Given the description of an element on the screen output the (x, y) to click on. 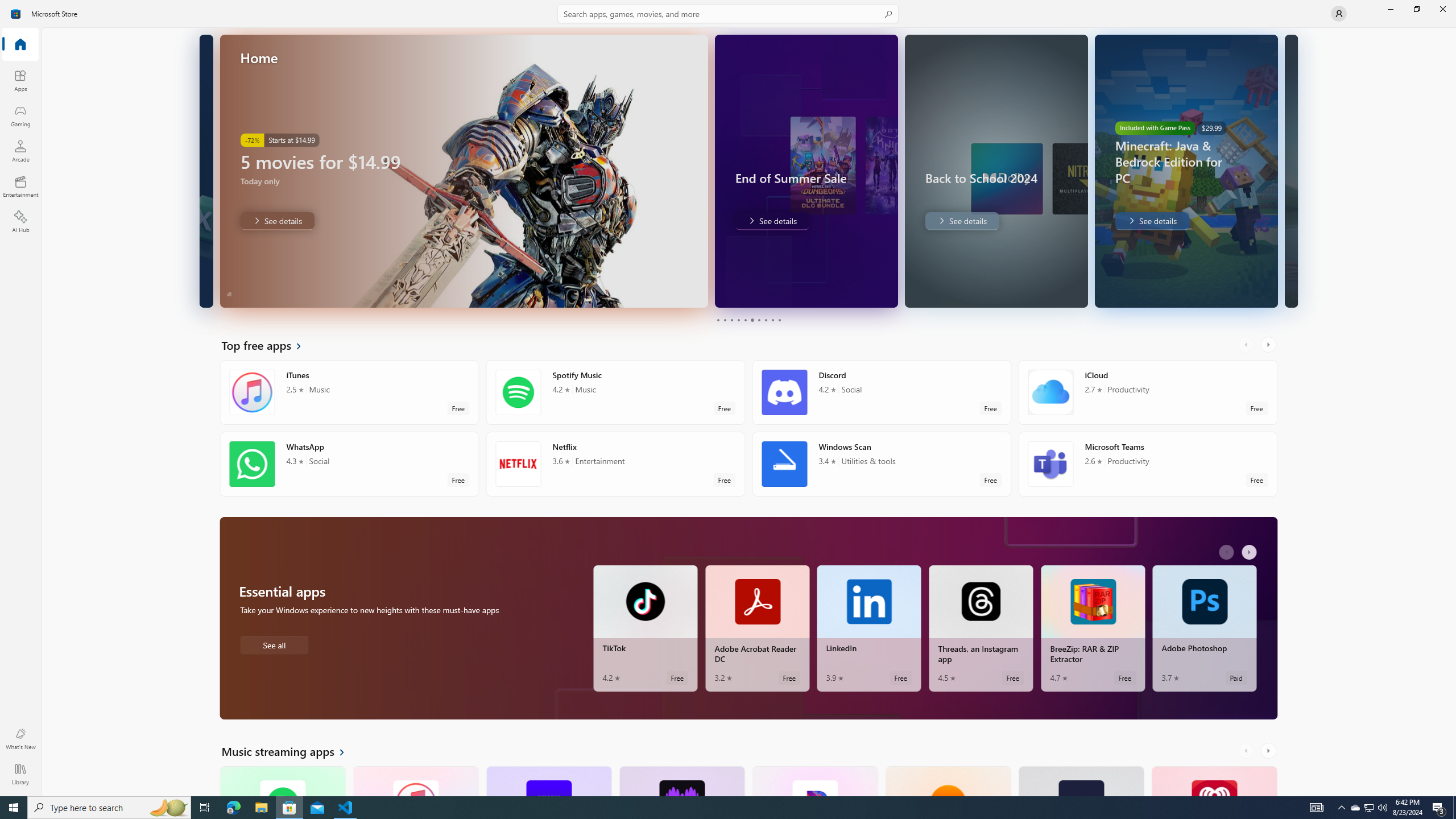
Page 1 (717, 319)
WhatsApp. Average rating of 4.3 out of five stars. Free   (349, 463)
Gaming (20, 115)
LinkedIn. Average rating of 3.9 out of five stars. Free   (868, 628)
Home (20, 45)
Arcade (20, 150)
Page 6 (751, 319)
AI Hub (20, 221)
iCloud. Average rating of 2.7 out of five stars. Free   (1146, 392)
